Given the description of an element on the screen output the (x, y) to click on. 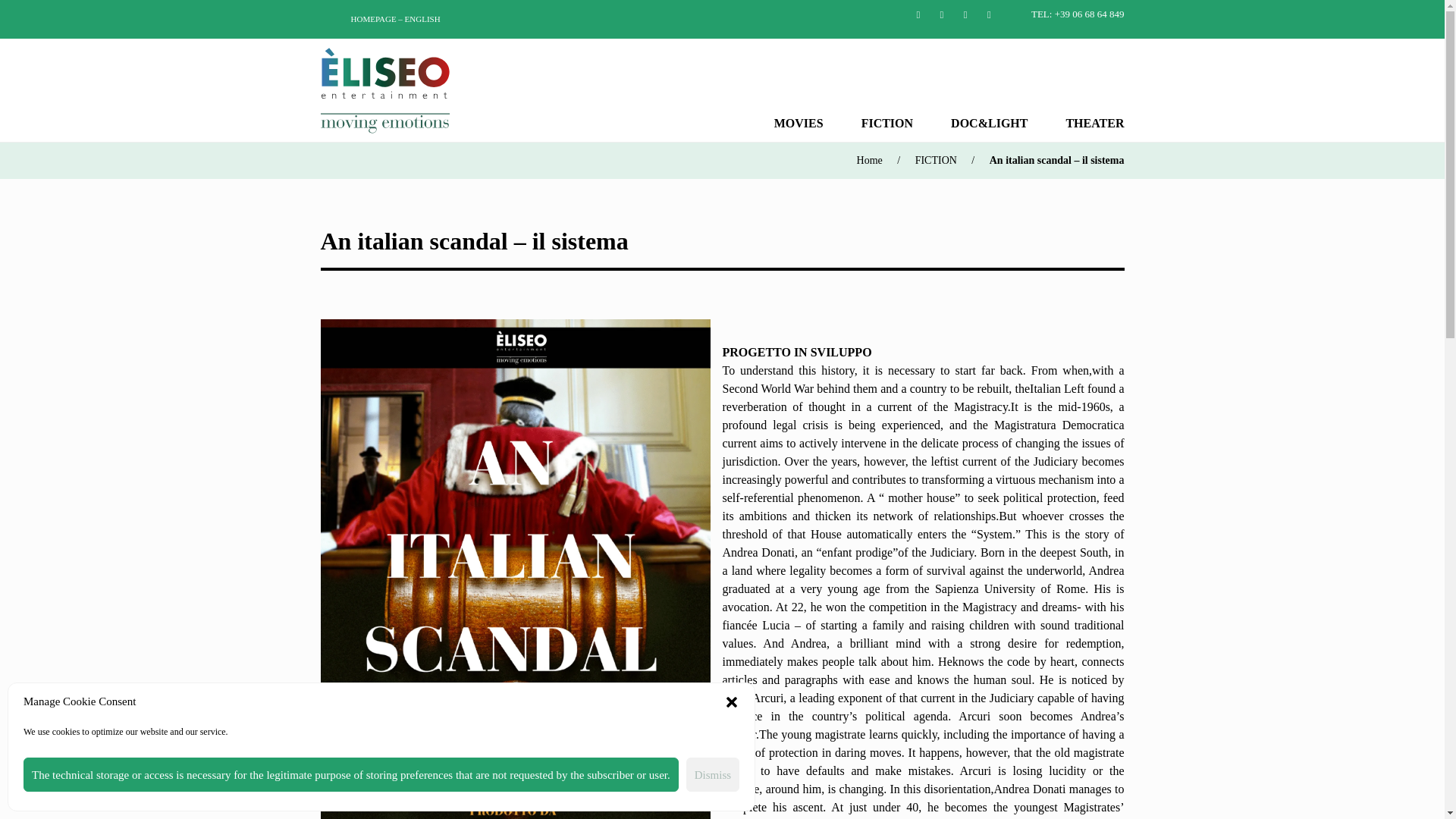
Twitter (941, 13)
Facebook (917, 13)
Default Label (988, 13)
Instagram (965, 13)
INSTAGRAM (965, 13)
FICTION (886, 123)
Dismiss (712, 774)
FACEBOOK (917, 13)
MOVIES (799, 123)
THEATER (1094, 123)
TWITTER (941, 13)
YOUTUBE (988, 13)
FICTION (935, 160)
Home (869, 160)
